Given the description of an element on the screen output the (x, y) to click on. 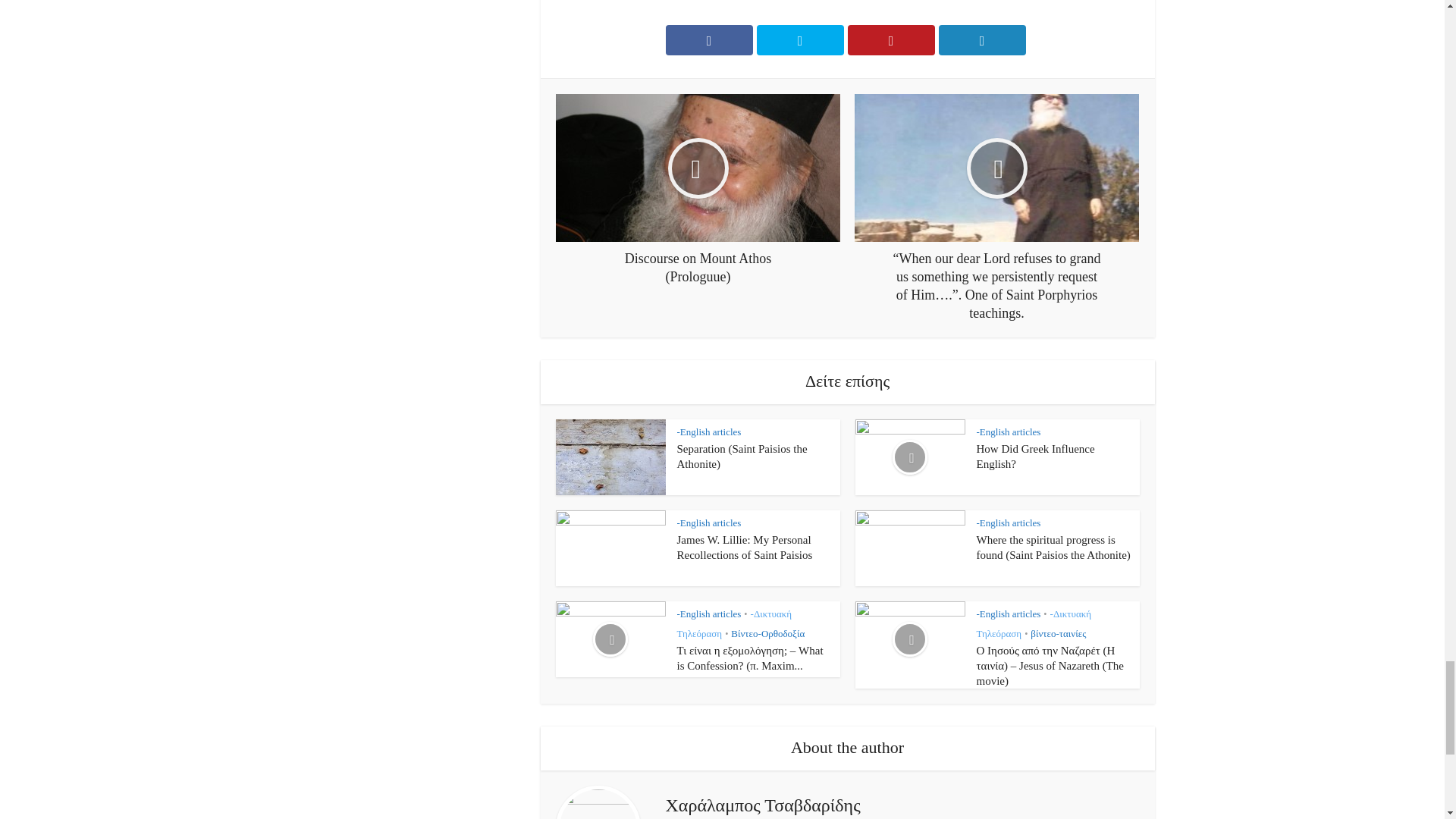
How Did Greek Influence English? (1035, 456)
James W. Lillie: My Personal Recollections of Saint Paisios (744, 547)
